Given the description of an element on the screen output the (x, y) to click on. 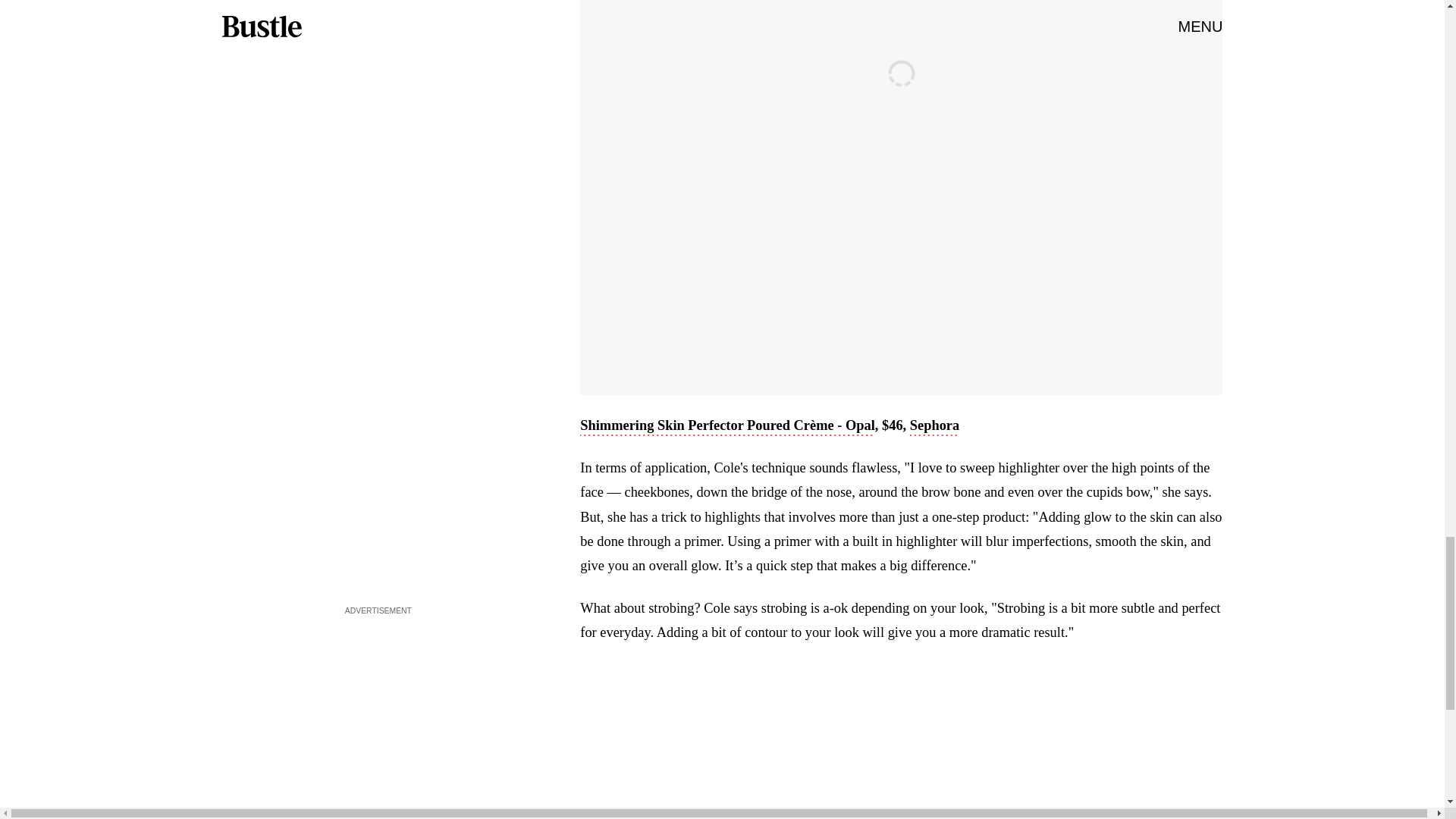
Sephora (934, 426)
